Given the description of an element on the screen output the (x, y) to click on. 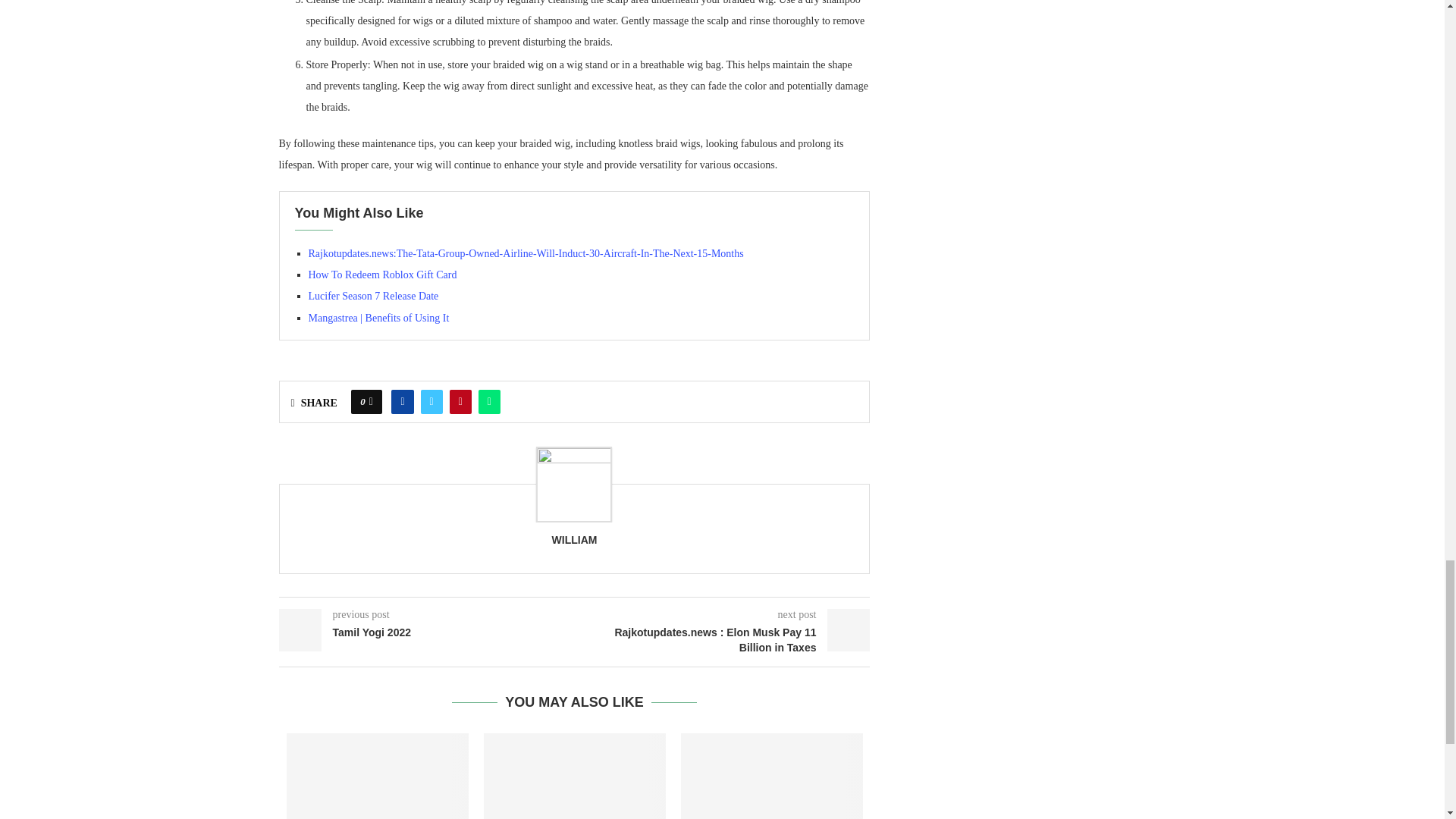
Rick And Morty Season 5 Episode 6 (377, 776)
How To Redeem Roblox Gift Card (382, 274)
Lucifer Season 7 Release Date (372, 296)
Author william (573, 539)
How To Solve Battlefront 2 Servers 721 Error (772, 776)
